Given the description of an element on the screen output the (x, y) to click on. 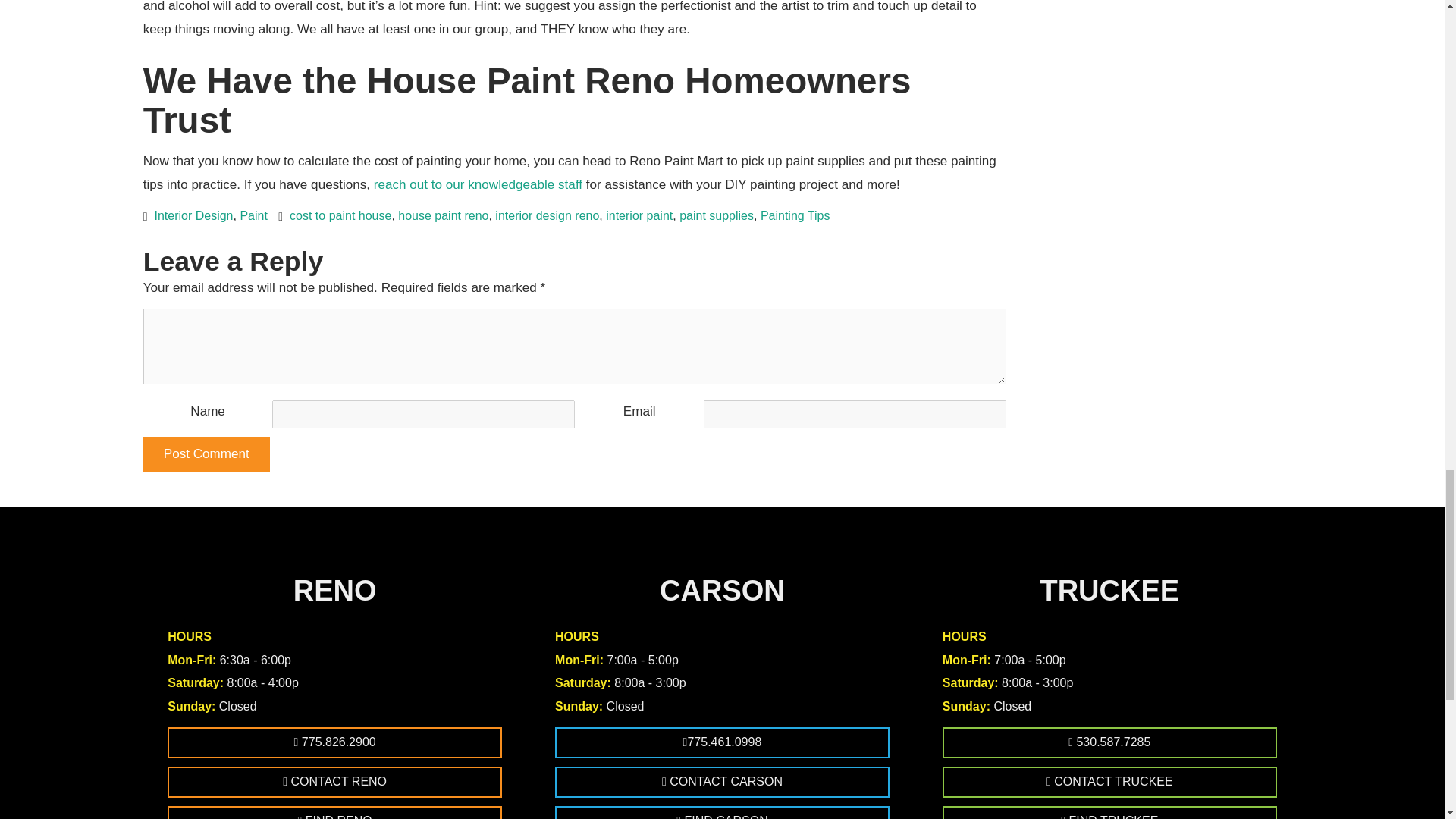
Post Comment (205, 453)
